Given the description of an element on the screen output the (x, y) to click on. 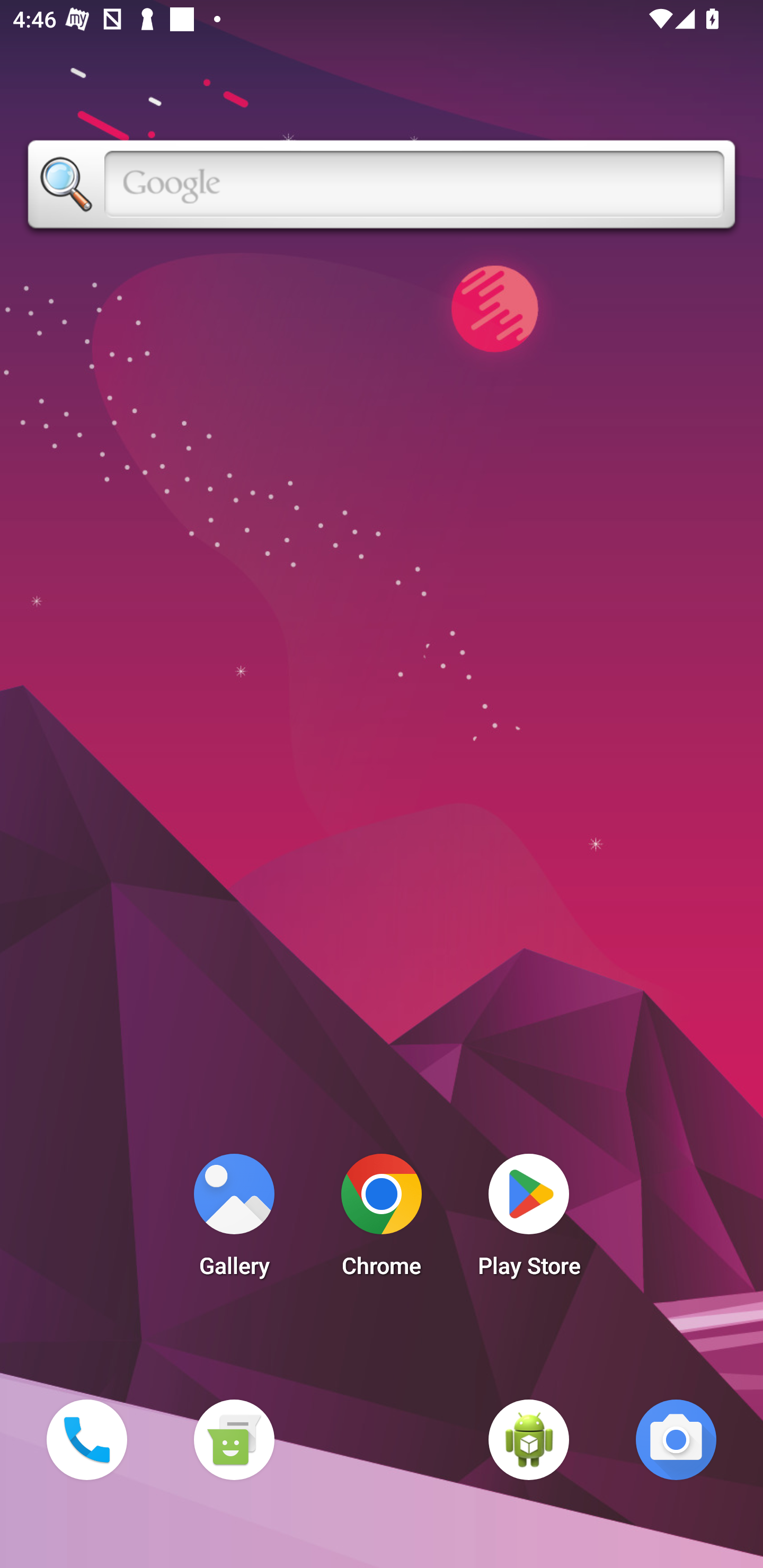
Gallery (233, 1220)
Chrome (381, 1220)
Play Store (528, 1220)
Phone (86, 1439)
Messaging (233, 1439)
WebView Browser Tester (528, 1439)
Camera (676, 1439)
